Given the description of an element on the screen output the (x, y) to click on. 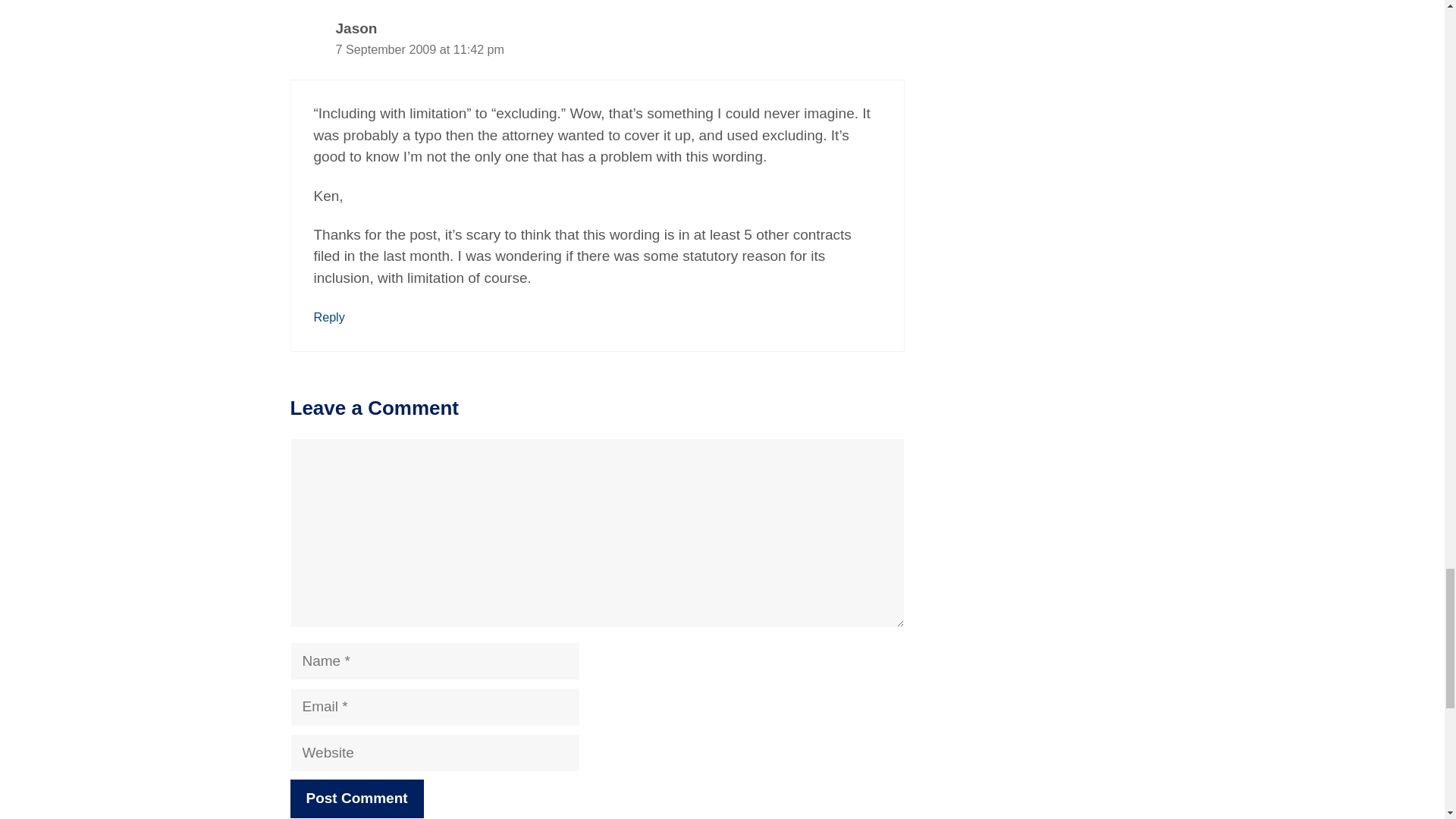
Post Comment (356, 798)
Reply (329, 316)
7 September 2009 at 11:42 pm (418, 49)
Post Comment (356, 798)
